Given the description of an element on the screen output the (x, y) to click on. 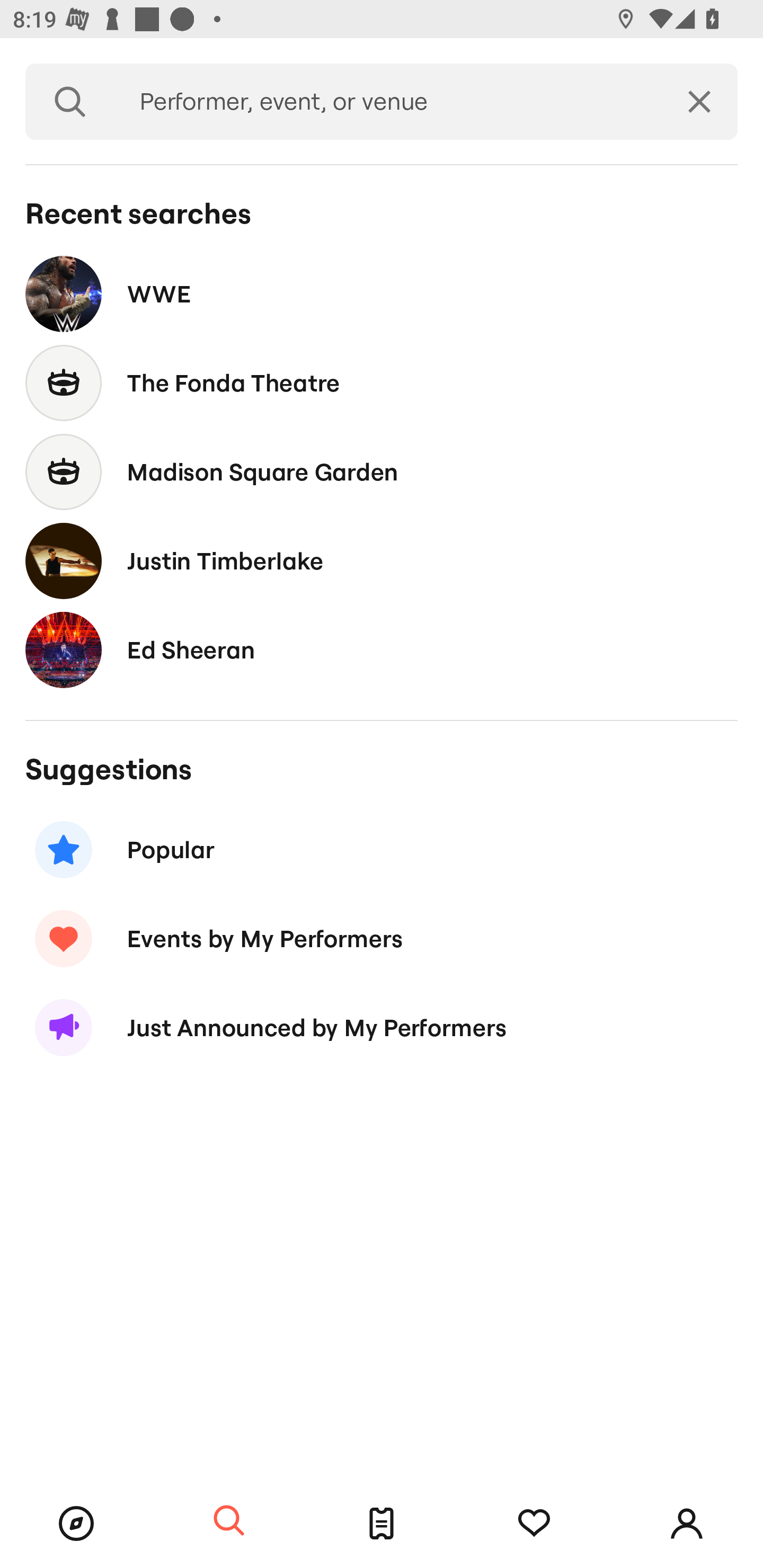
Search (69, 101)
Performer, event, or venue (387, 101)
Clear (699, 101)
WWE (381, 293)
The Fonda Theatre (381, 383)
Madison Square Garden (381, 471)
Justin Timberlake (381, 560)
Ed Sheeran (381, 649)
Popular (381, 849)
Events by My Performers (381, 938)
Just Announced by My Performers (381, 1027)
Browse (76, 1523)
Search (228, 1521)
Tickets (381, 1523)
Tracking (533, 1523)
Account (686, 1523)
